Given the description of an element on the screen output the (x, y) to click on. 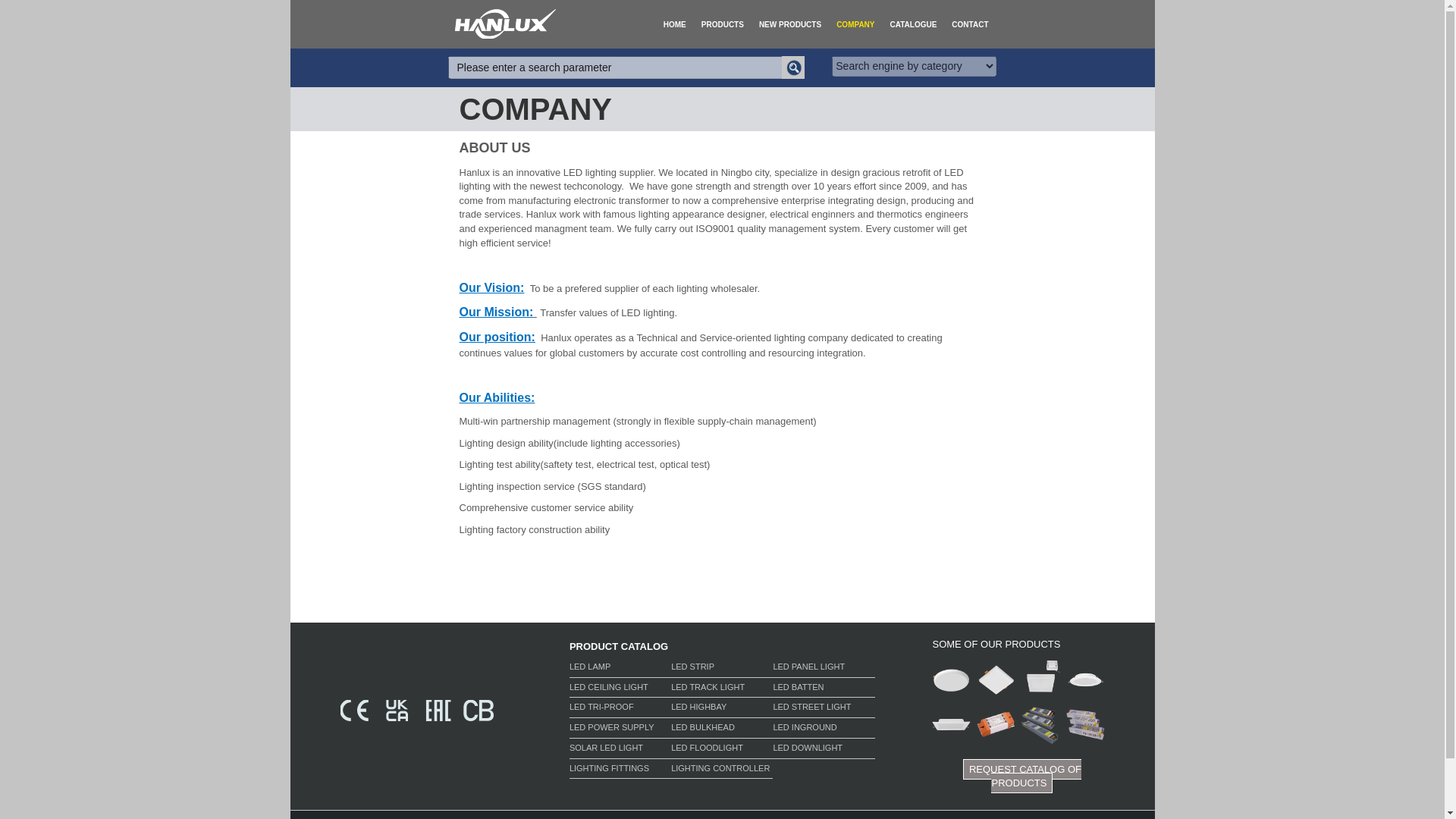
LED FLOODLIGHT (722, 750)
REQUEST CATALOG OF PRODUCTS (1021, 776)
LIGHTING CONTROLLER (722, 770)
COMPANY (855, 24)
LED TRI-PROOF (620, 709)
LED DOWNLIGHT (824, 750)
LED STREET LIGHT (824, 709)
CATALOGUE (913, 24)
SOLAR LED LIGHT (620, 750)
LED PANEL LIGHT (824, 668)
